Given the description of an element on the screen output the (x, y) to click on. 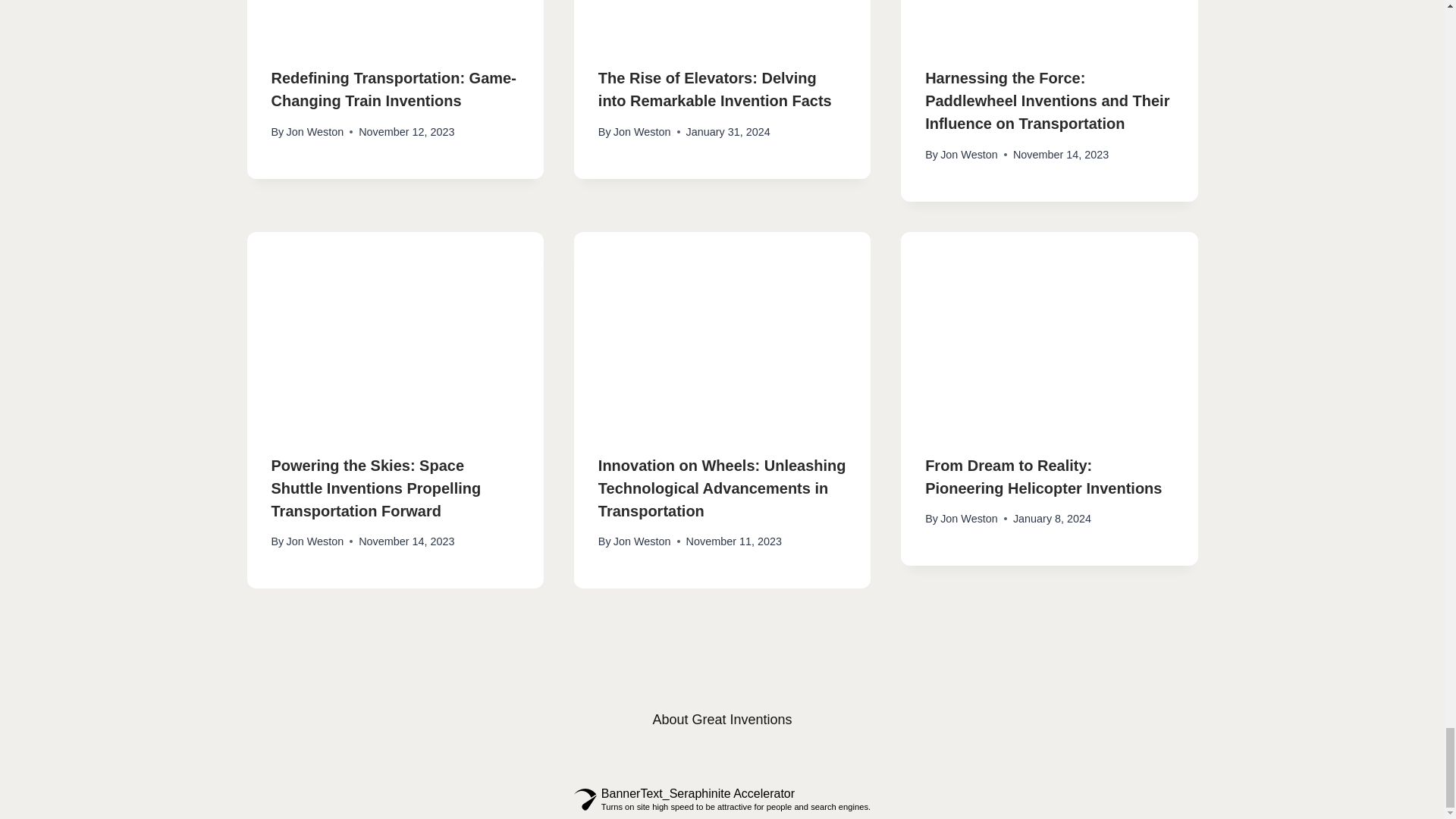
Jon Weston (641, 132)
Jon Weston (314, 132)
Redefining Transportation: Game-Changing Train Inventions (393, 88)
